Given the description of an element on the screen output the (x, y) to click on. 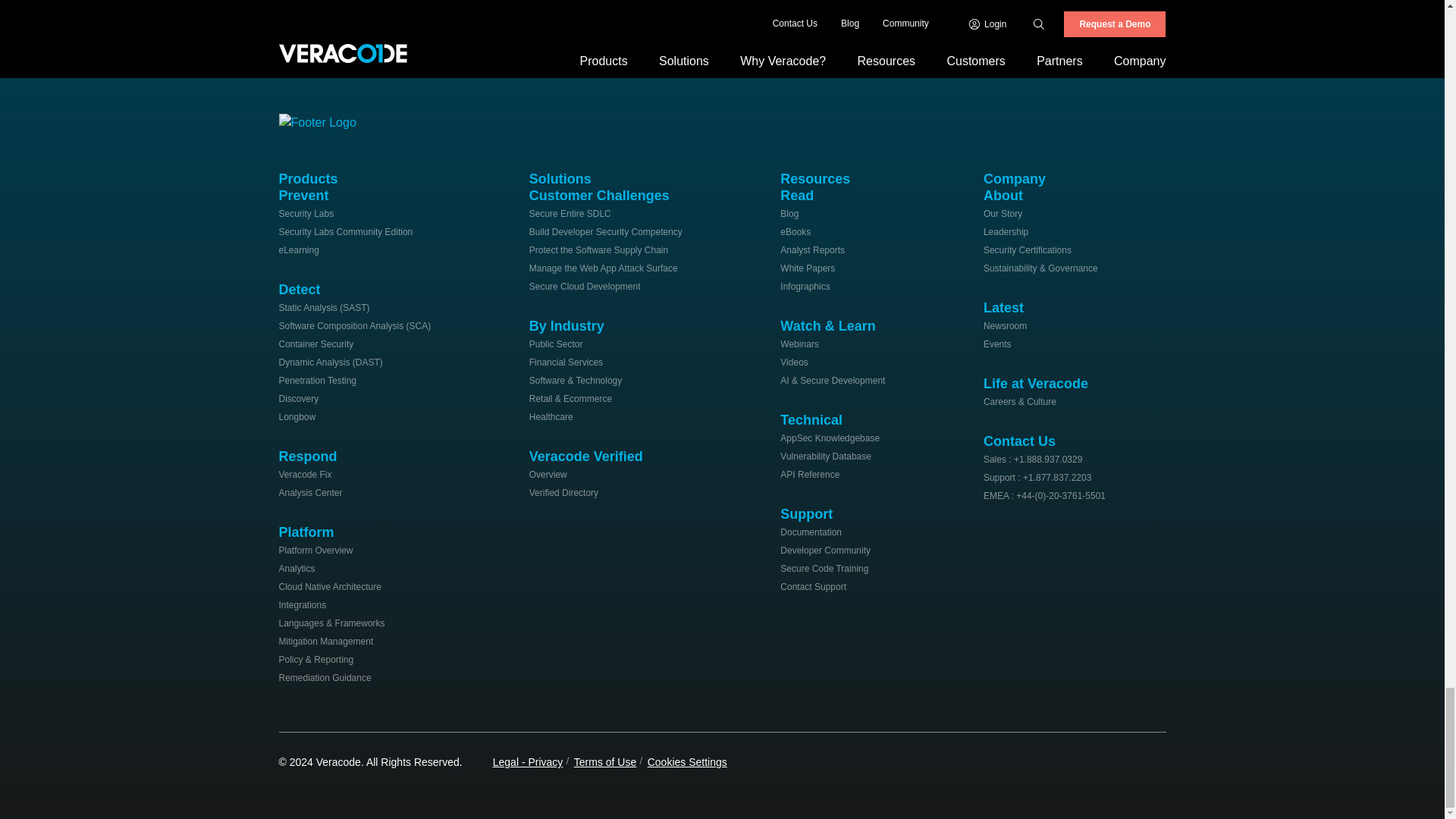
VeraCode (325, 119)
Legal - Privacy (528, 761)
Longbow (297, 416)
Cookies Settings (686, 761)
Terms of Use (604, 761)
